Given the description of an element on the screen output the (x, y) to click on. 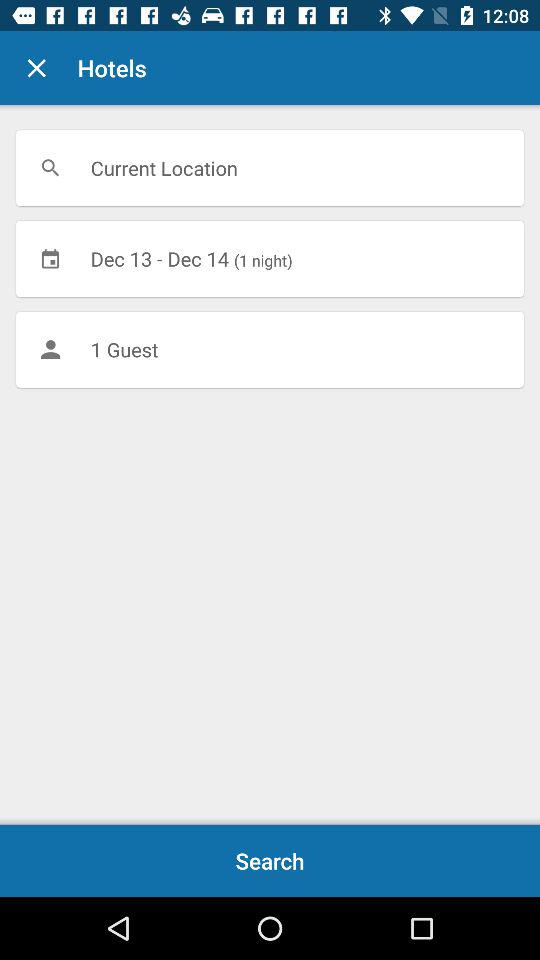
press icon next to the hotels item (36, 68)
